Given the description of an element on the screen output the (x, y) to click on. 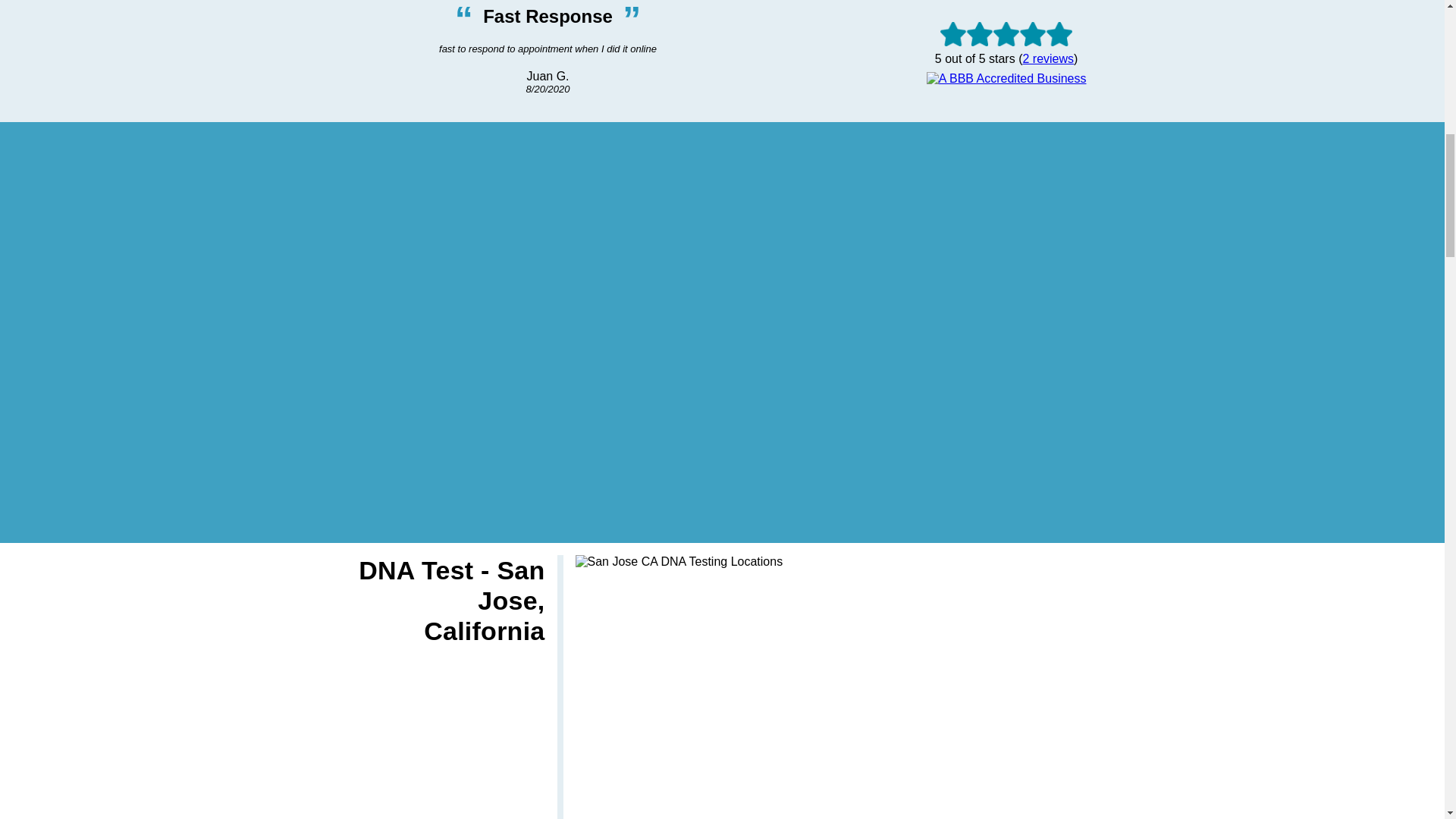
San Jose CA DNA Testing (679, 561)
